Given the description of an element on the screen output the (x, y) to click on. 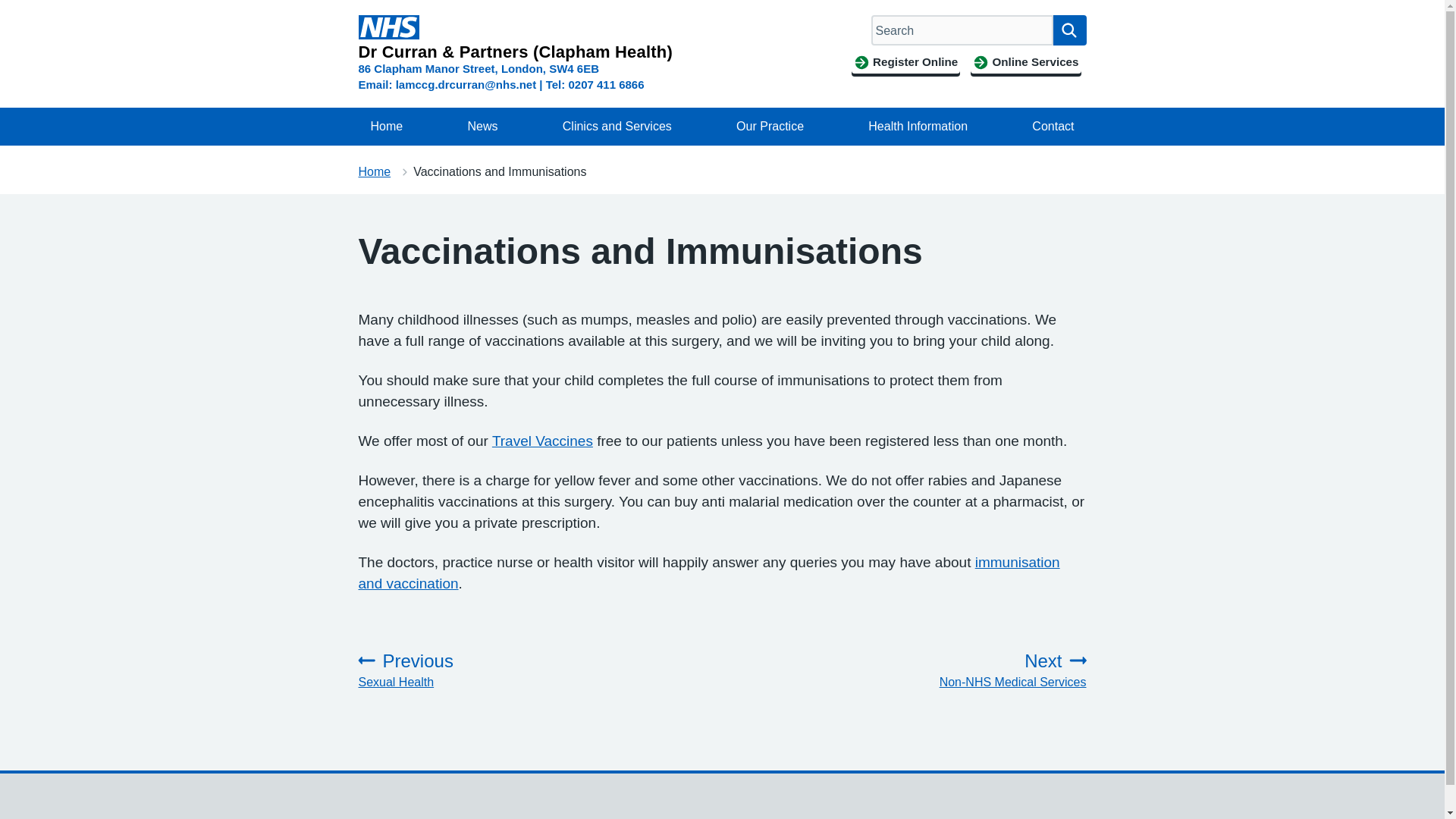
Online Services (1025, 61)
Contact (1053, 126)
Home (386, 126)
Travel Vaccines (542, 440)
News (481, 126)
Clinics and Services (617, 126)
Search (1069, 30)
Our Practice (769, 126)
Home (374, 171)
NHS Logo (388, 27)
